Given the description of an element on the screen output the (x, y) to click on. 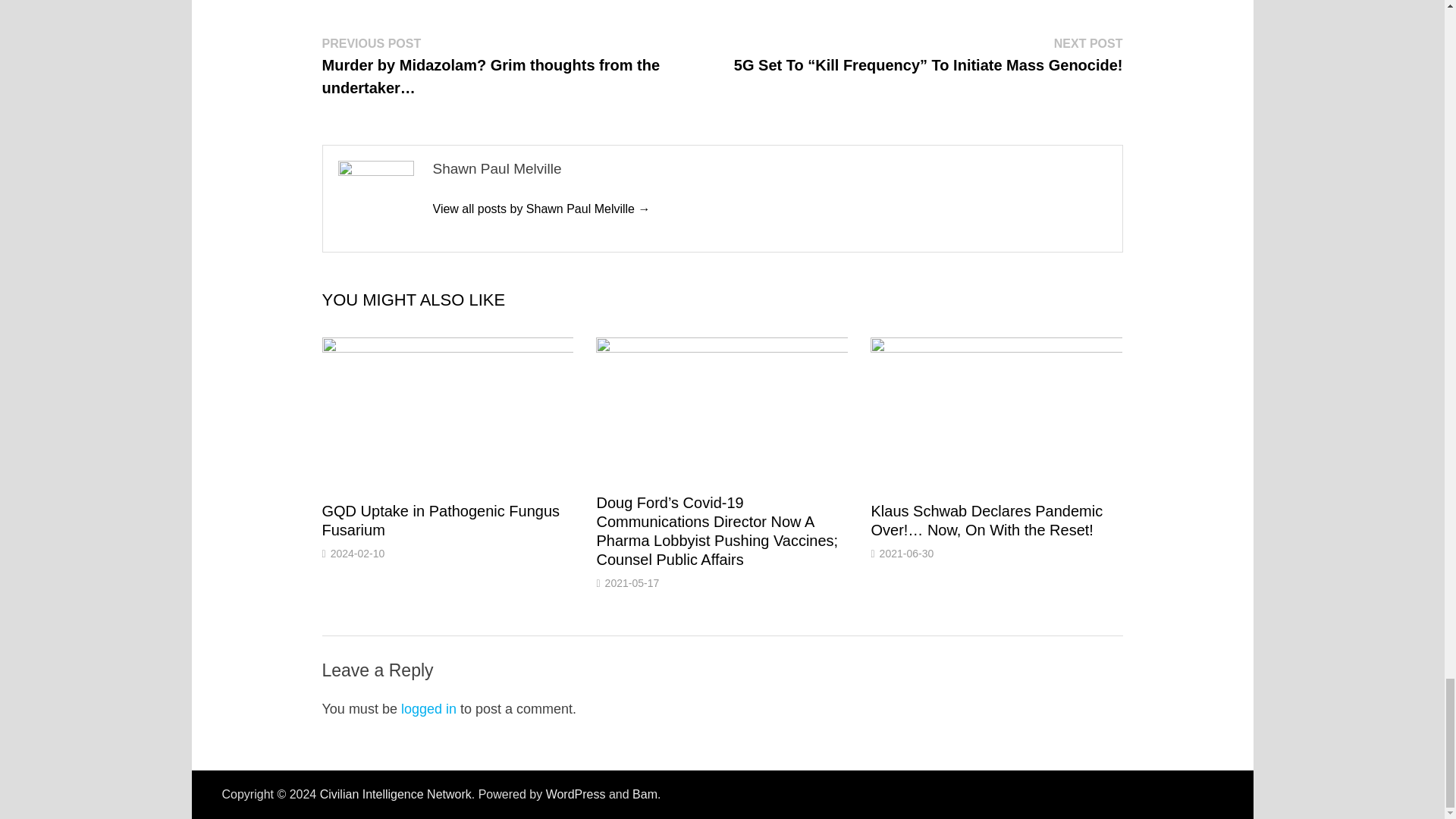
Civilian Intelligence Network (395, 793)
GQD Uptake in Pathogenic Fungus Fusarium (440, 520)
Shawn Paul Melville (540, 208)
